Given the description of an element on the screen output the (x, y) to click on. 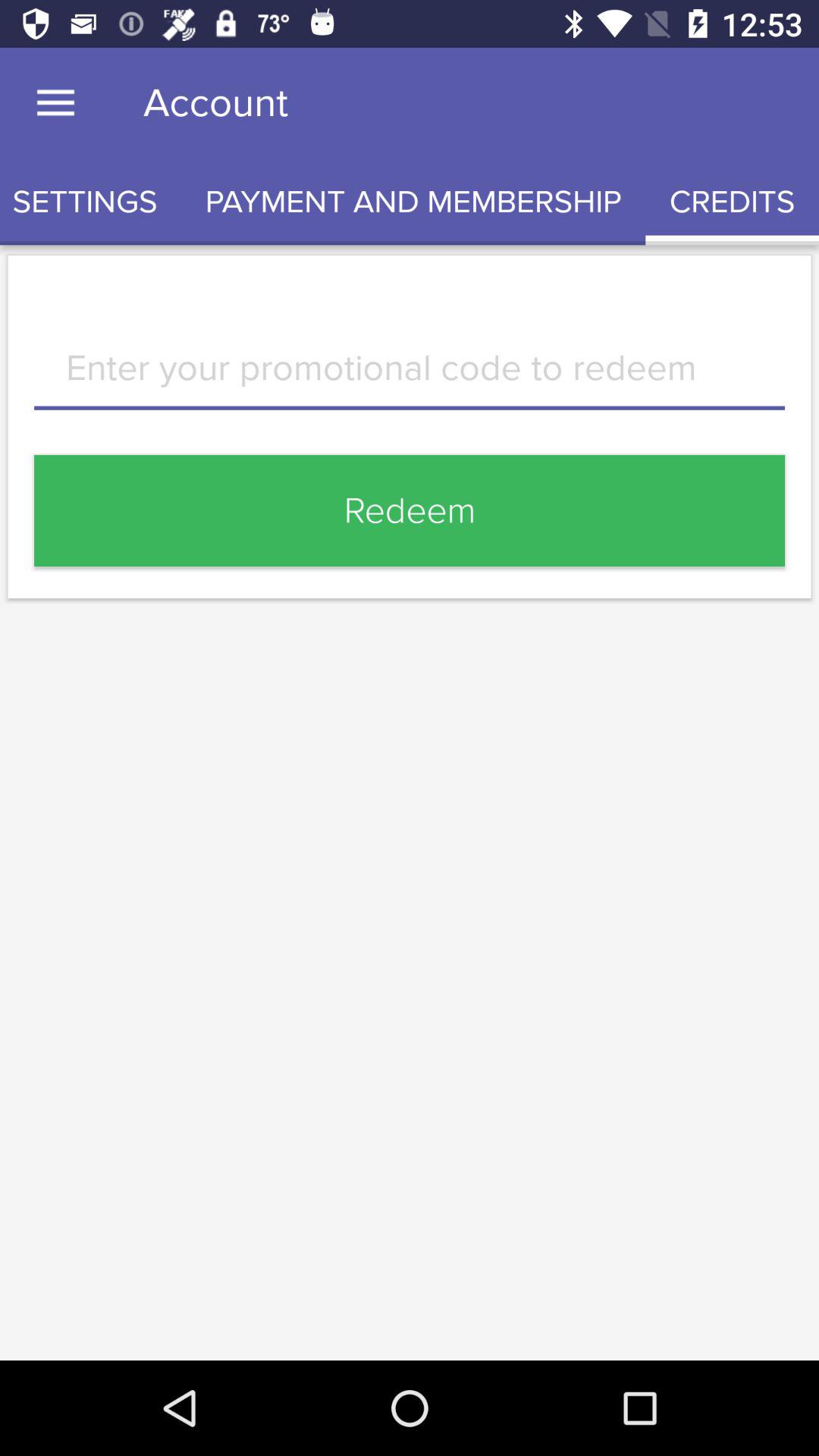
open item to the right of the payment and membership icon (732, 202)
